Given the description of an element on the screen output the (x, y) to click on. 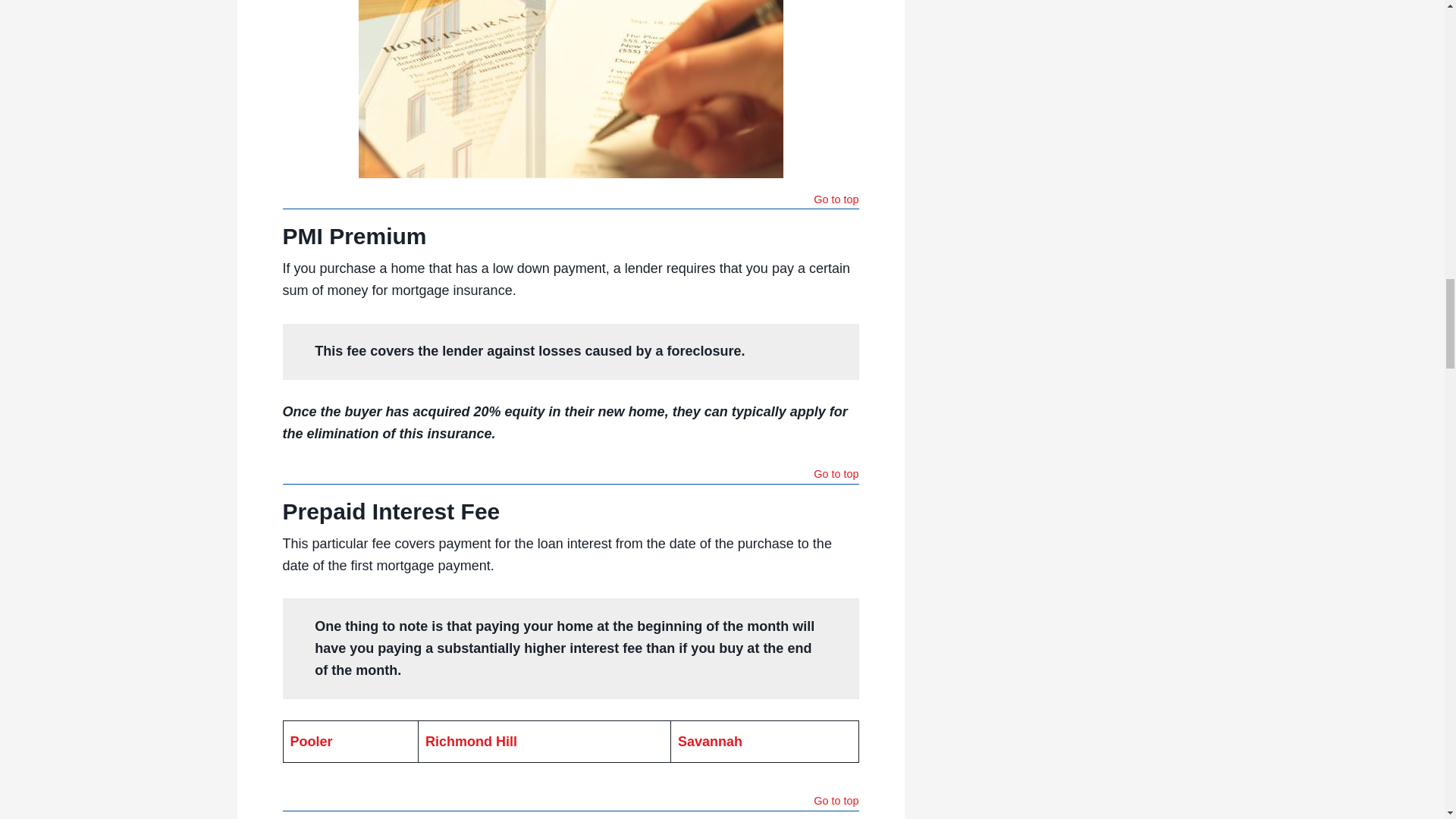
Go to top (836, 201)
Pooler (310, 741)
Richmond Hill (470, 741)
Savannah (710, 741)
Go to top (836, 475)
Go to top (836, 802)
